Given the description of an element on the screen output the (x, y) to click on. 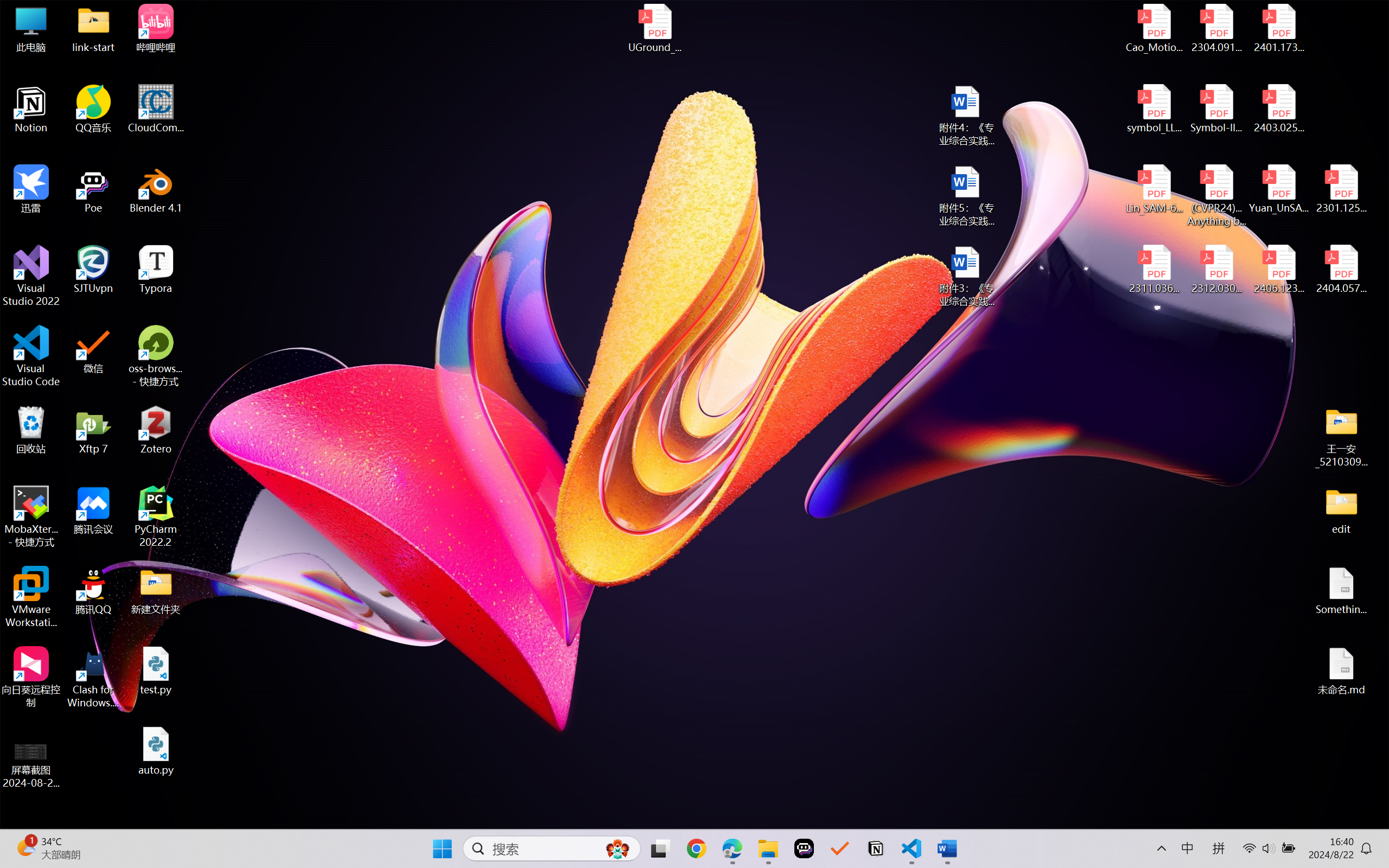
2401.17399v1.pdf (1278, 28)
UGround_paper.pdf (654, 28)
edit (1340, 510)
Notion (31, 109)
PyCharm 2022.2 (156, 516)
symbol_LLM.pdf (1154, 109)
2301.12597v3.pdf (1340, 189)
2304.09121v3.pdf (1216, 28)
